Given the description of an element on the screen output the (x, y) to click on. 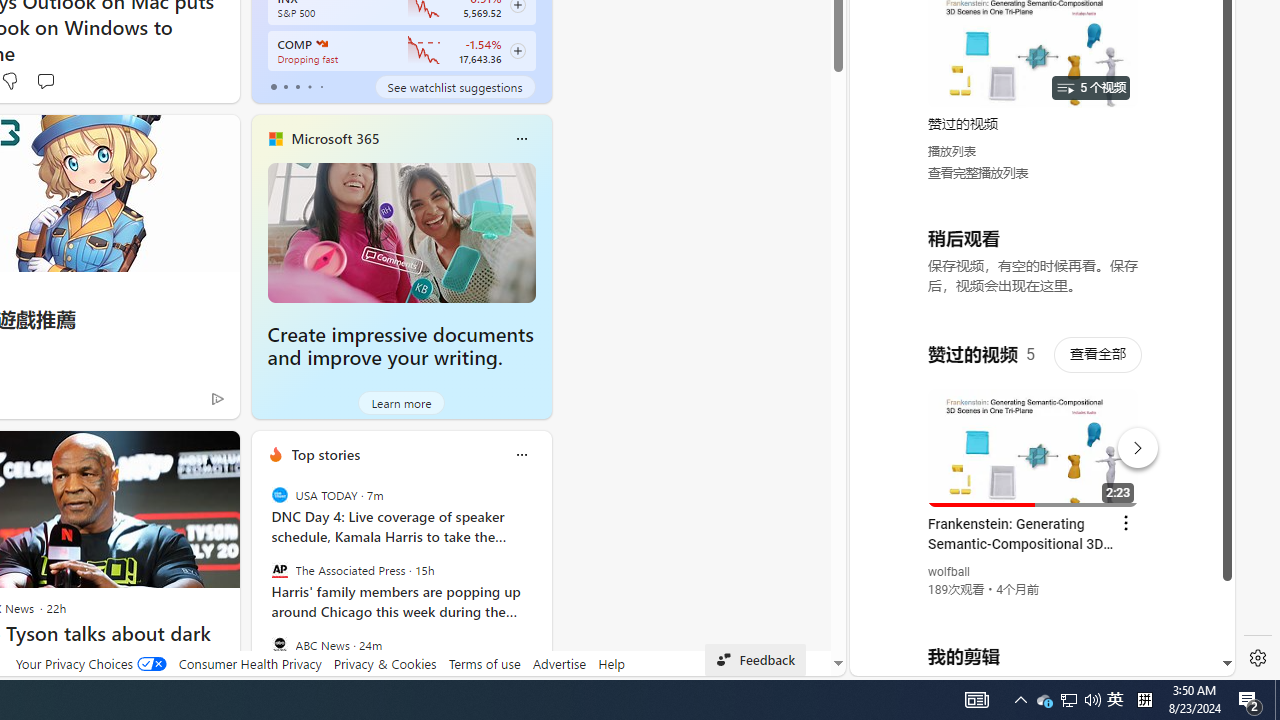
tab-2 (297, 86)
Top stories (325, 454)
Consumer Health Privacy (249, 663)
tab-4 (320, 86)
Click to scroll right (1196, 83)
NASDAQ (320, 43)
Learn more (401, 402)
Hide this story (178, 454)
wolfball (949, 572)
